Given the description of an element on the screen output the (x, y) to click on. 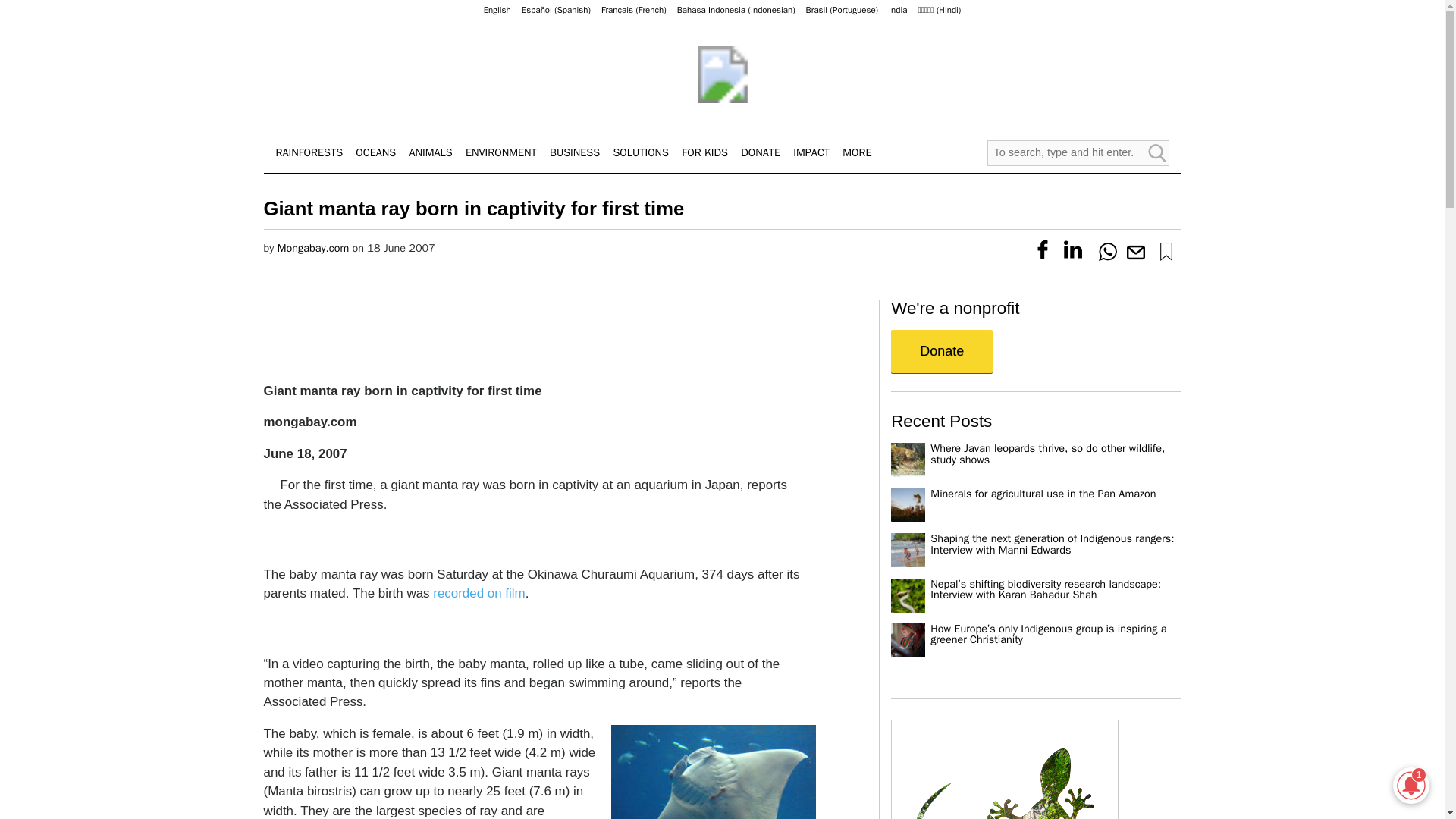
ENVIRONMENT (501, 153)
FOR KIDS (704, 153)
ANIMALS (430, 153)
recorded on film (478, 593)
Minerals for agricultural use in the Pan Amazon (1043, 493)
DONATE (760, 153)
SOLUTIONS (640, 153)
Donate (941, 351)
MORE (856, 153)
BUSINESS (574, 153)
RAINFORESTS (309, 153)
Mongabay.com (313, 247)
IMPACT (811, 153)
India (897, 9)
